Given the description of an element on the screen output the (x, y) to click on. 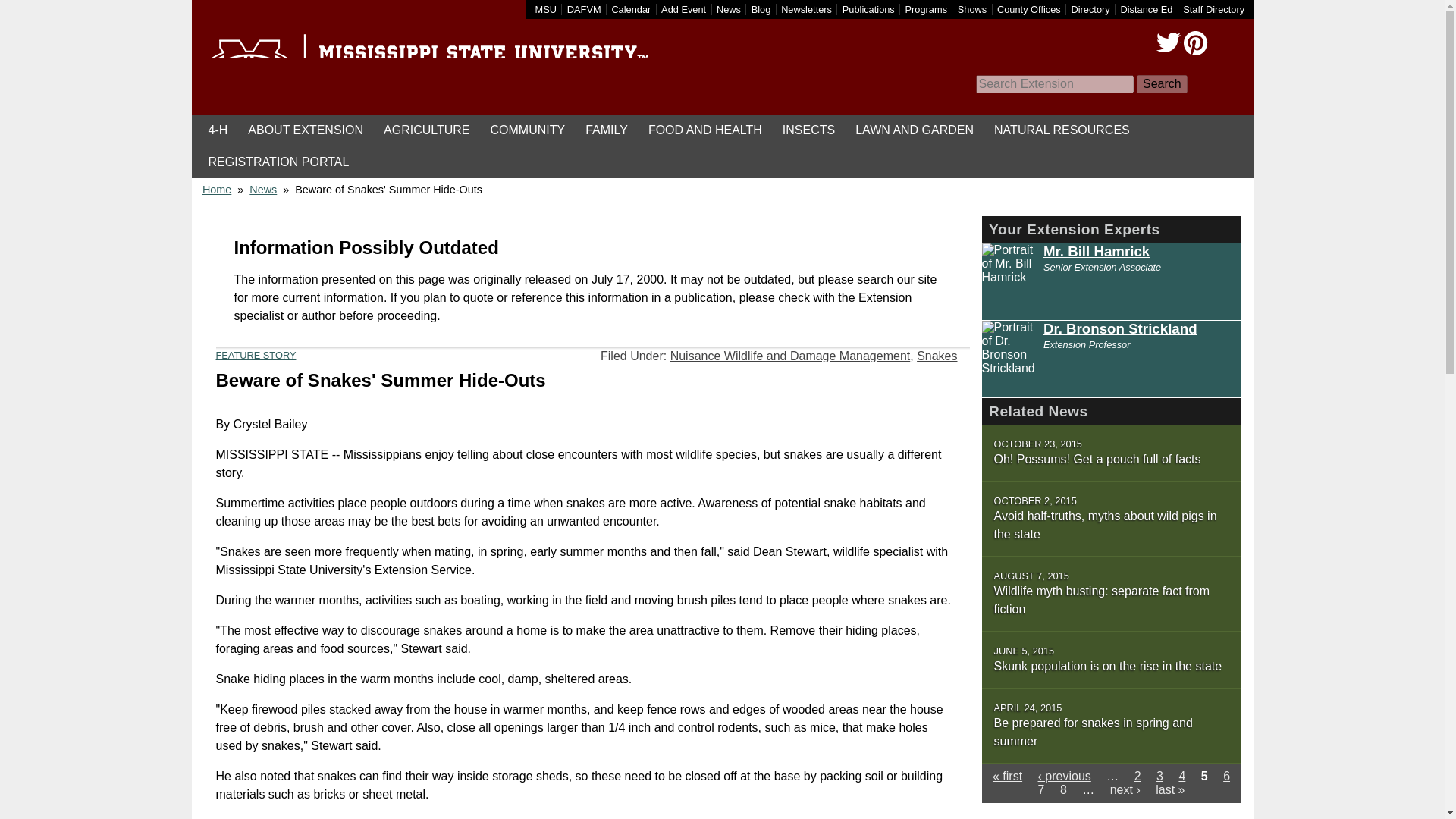
Newsletters (805, 9)
County Offices (1029, 9)
MSU (545, 9)
Directory of employees of the MSU Extension Service (1213, 9)
4-H (218, 130)
Shows (972, 9)
Twitter (1167, 43)
Distance Ed (1145, 9)
Add Event (683, 9)
News (728, 9)
List of Extension Programs (926, 9)
Publications (869, 9)
Blog (761, 9)
